Given the description of an element on the screen output the (x, y) to click on. 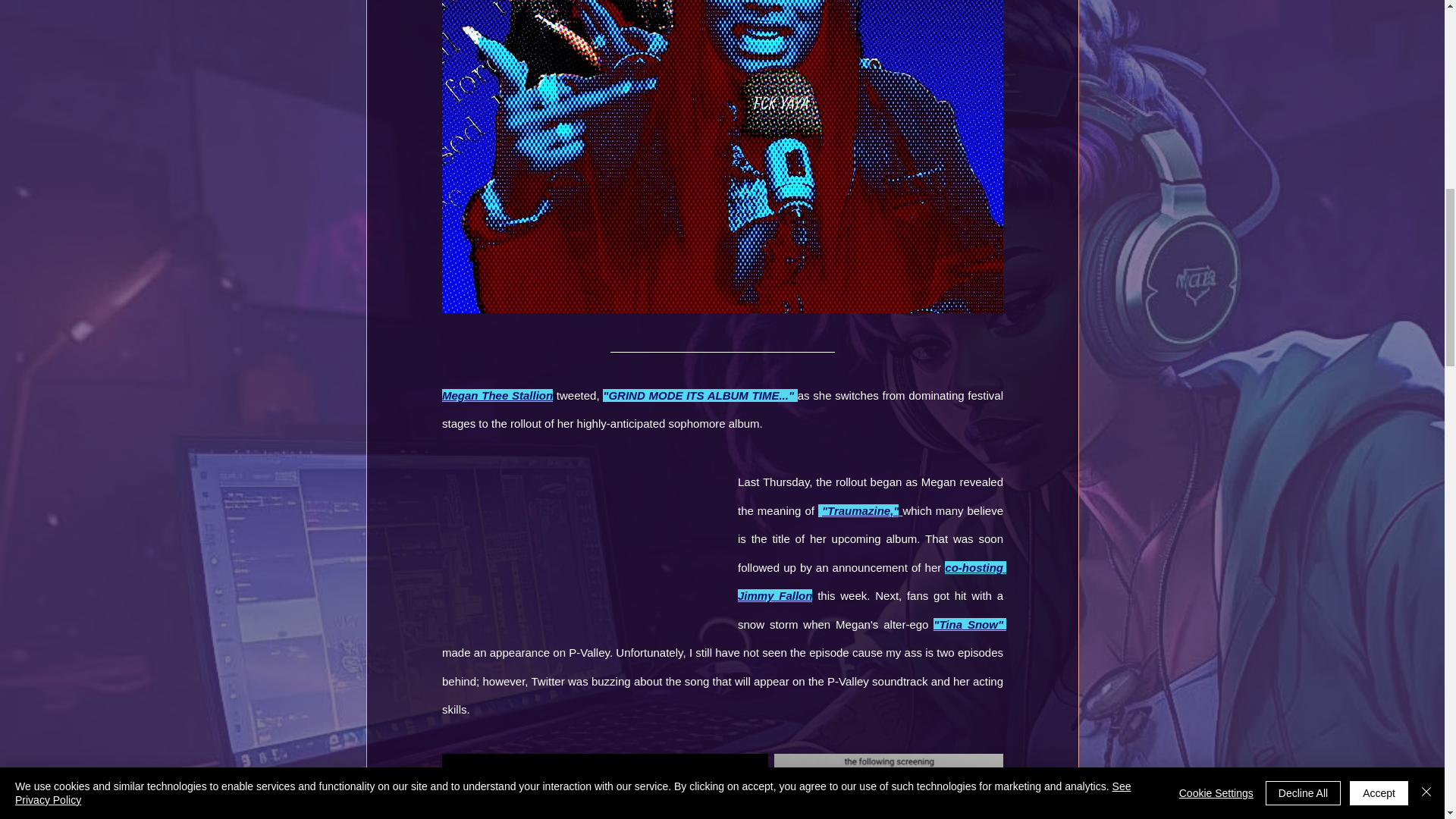
co-hosting Jimmy Fallon (871, 581)
"Tina Snow" (968, 624)
"Traumazine," (859, 510)
Megan Thee Stallion (496, 395)
